Given the description of an element on the screen output the (x, y) to click on. 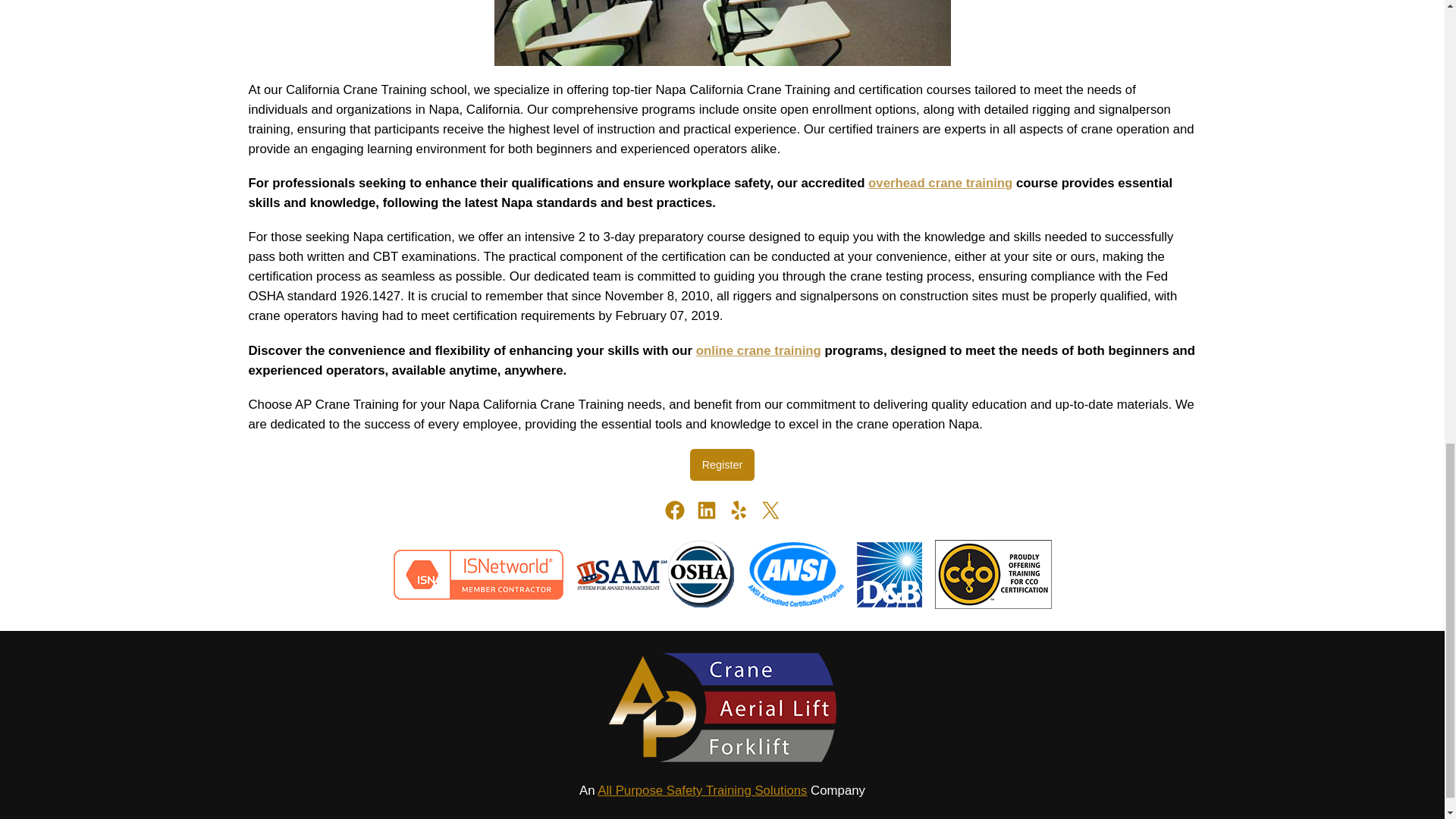
online crane training (758, 350)
overhead crane training (939, 183)
Yelp (737, 509)
LinkedIn (705, 509)
Register (722, 464)
X (769, 509)
All Purpose Safety Training Solutions (701, 789)
Facebook (673, 509)
